Given the description of an element on the screen output the (x, y) to click on. 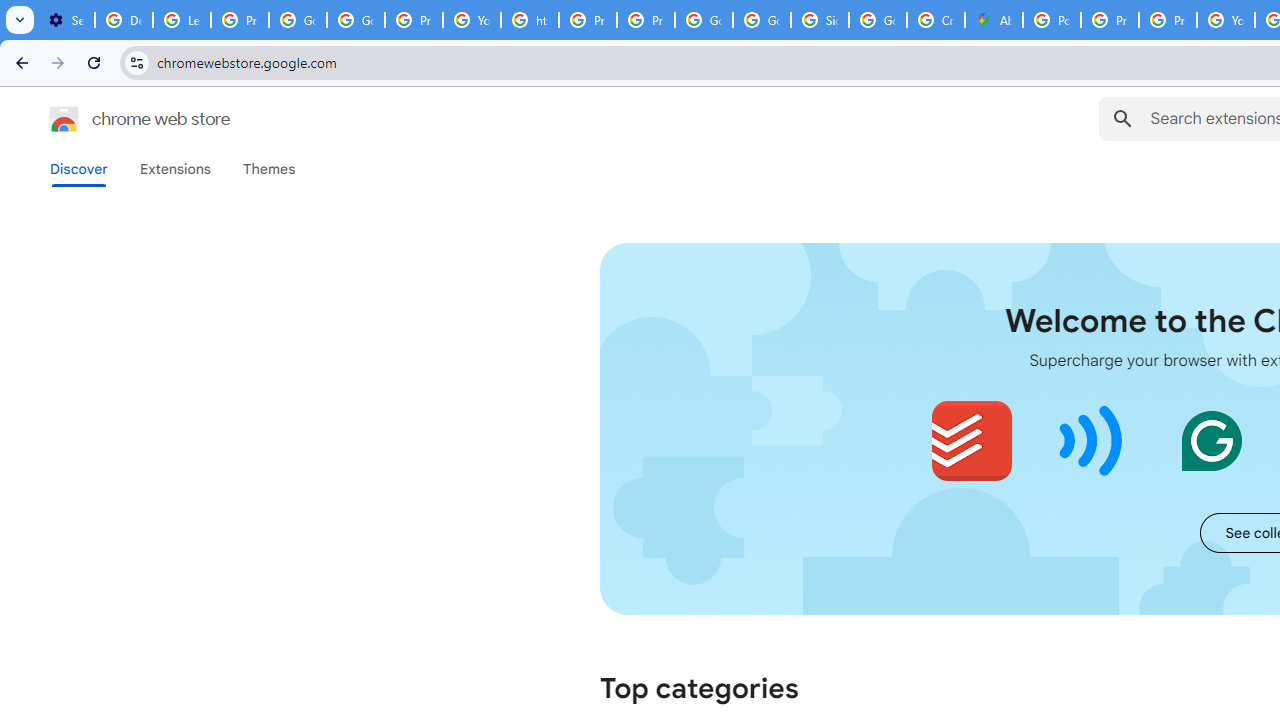
Grammarly: AI Writing and Grammar Checker App (1211, 440)
YouTube (471, 20)
Delete photos & videos - Computer - Google Photos Help (123, 20)
Policy Accountability and Transparency - Transparency Center (1051, 20)
YouTube (1225, 20)
Chrome Web Store logo chrome web store (118, 118)
Settings - On startup (65, 20)
